Given the description of an element on the screen output the (x, y) to click on. 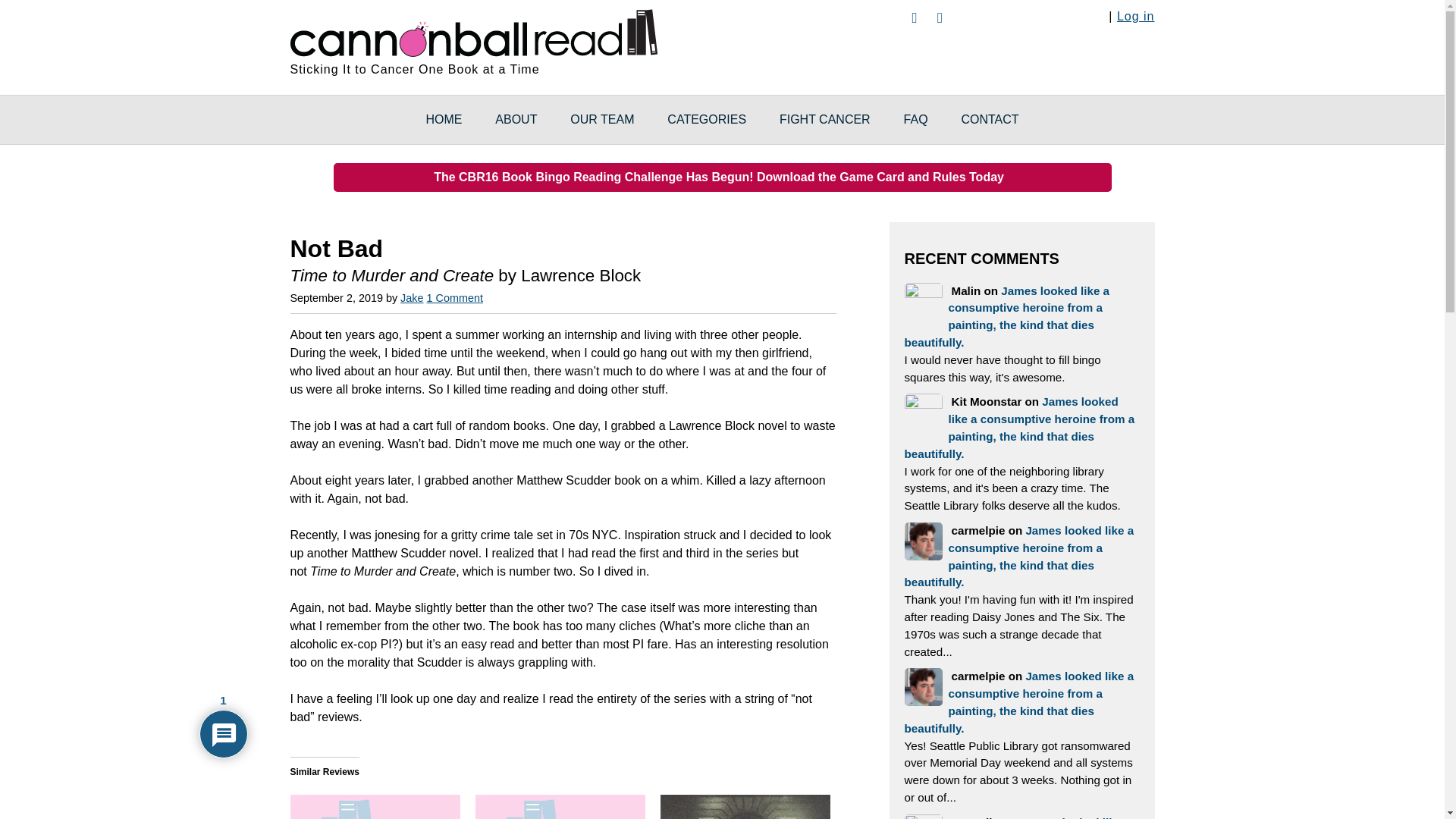
FAQ (915, 119)
Hello, Old Friend (745, 806)
OUR TEAM (601, 119)
FIGHT CANCER (824, 119)
CANNONBALL READ 16 (473, 30)
CATEGORIES (706, 119)
ABOUT (515, 119)
The Circle Is Complete (374, 806)
CONTACT (988, 119)
HOME (443, 119)
Log in (1135, 15)
